Given the description of an element on the screen output the (x, y) to click on. 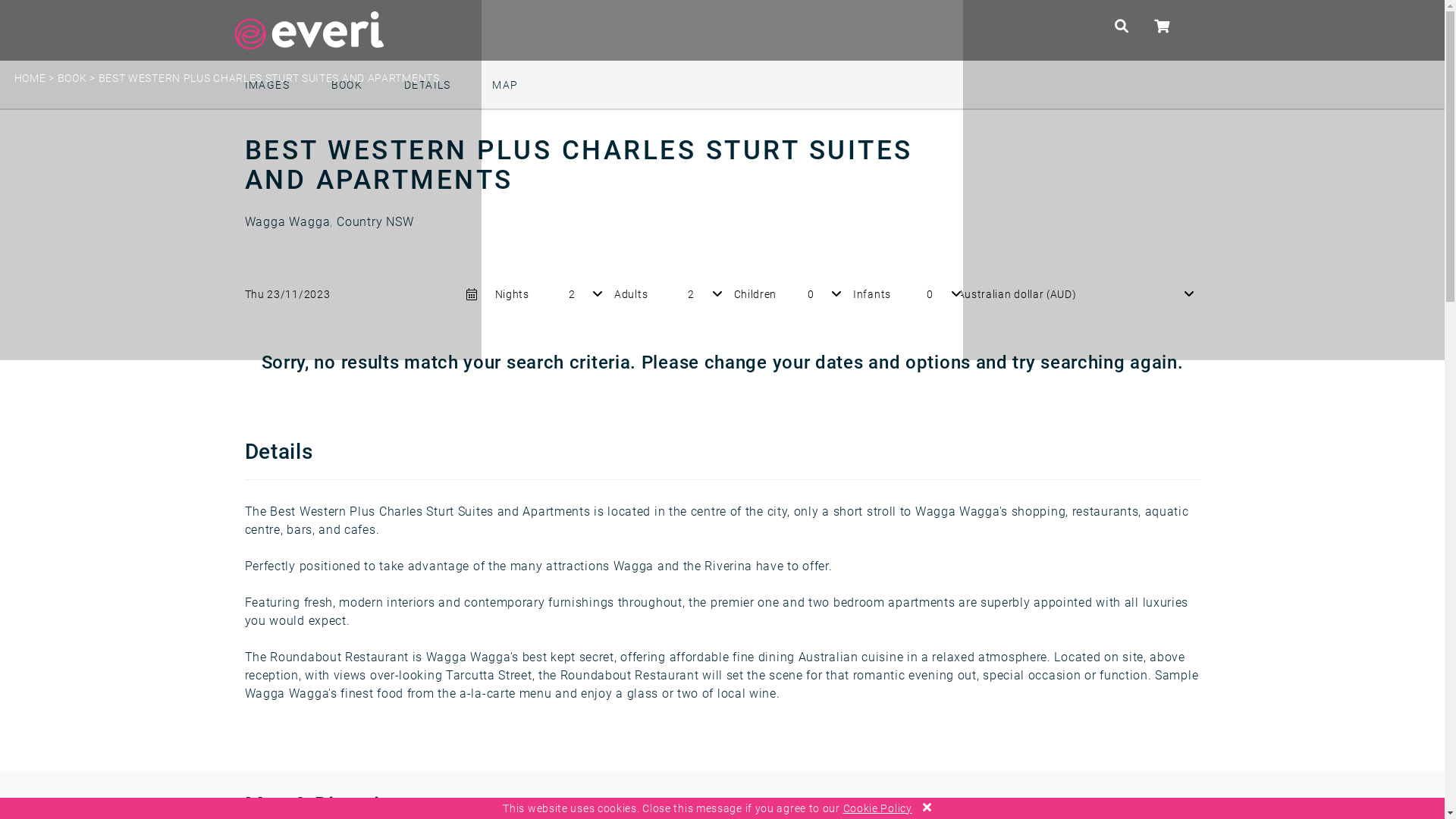
Wagga Wagga Element type: text (286, 221)
Cookie Policy Element type: text (877, 808)
DETAILS Element type: text (427, 84)
x Element type: text (926, 806)
HOME Element type: text (30, 78)
IMAGES Element type: text (266, 84)
Country NSW Element type: text (375, 221)
BOOK Element type: text (72, 78)
BOOK Element type: text (347, 84)
MAP Element type: text (504, 84)
